Given the description of an element on the screen output the (x, y) to click on. 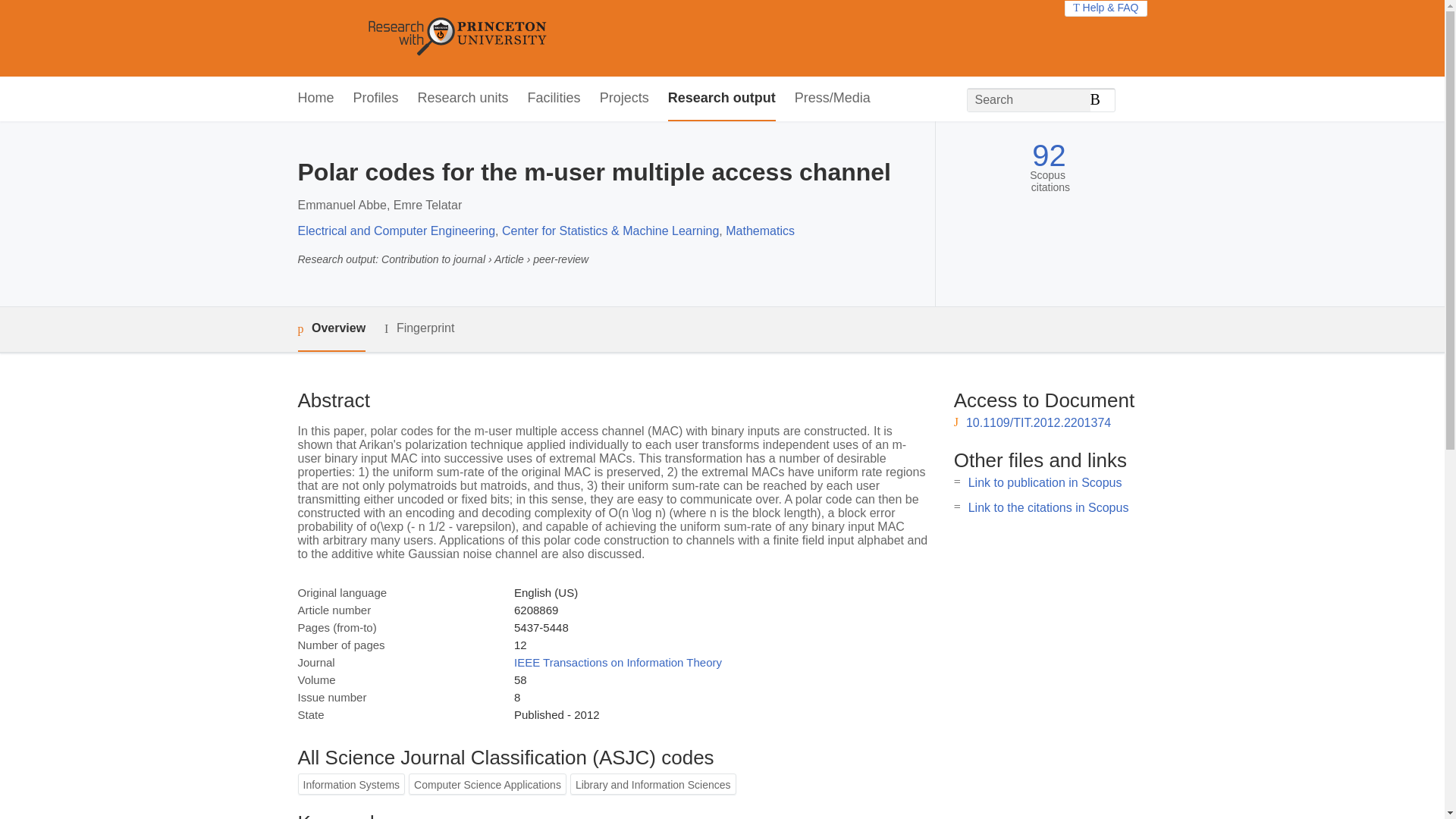
Facilities (553, 98)
Link to publication in Scopus (1045, 481)
Electrical and Computer Engineering (396, 230)
Projects (624, 98)
Mathematics (759, 230)
Research units (462, 98)
Fingerprint (419, 328)
Link to the citations in Scopus (1048, 507)
Overview (331, 329)
92 (1048, 155)
Profiles (375, 98)
IEEE Transactions on Information Theory (617, 662)
Princeton University Home (567, 38)
Research output (722, 98)
